Given the description of an element on the screen output the (x, y) to click on. 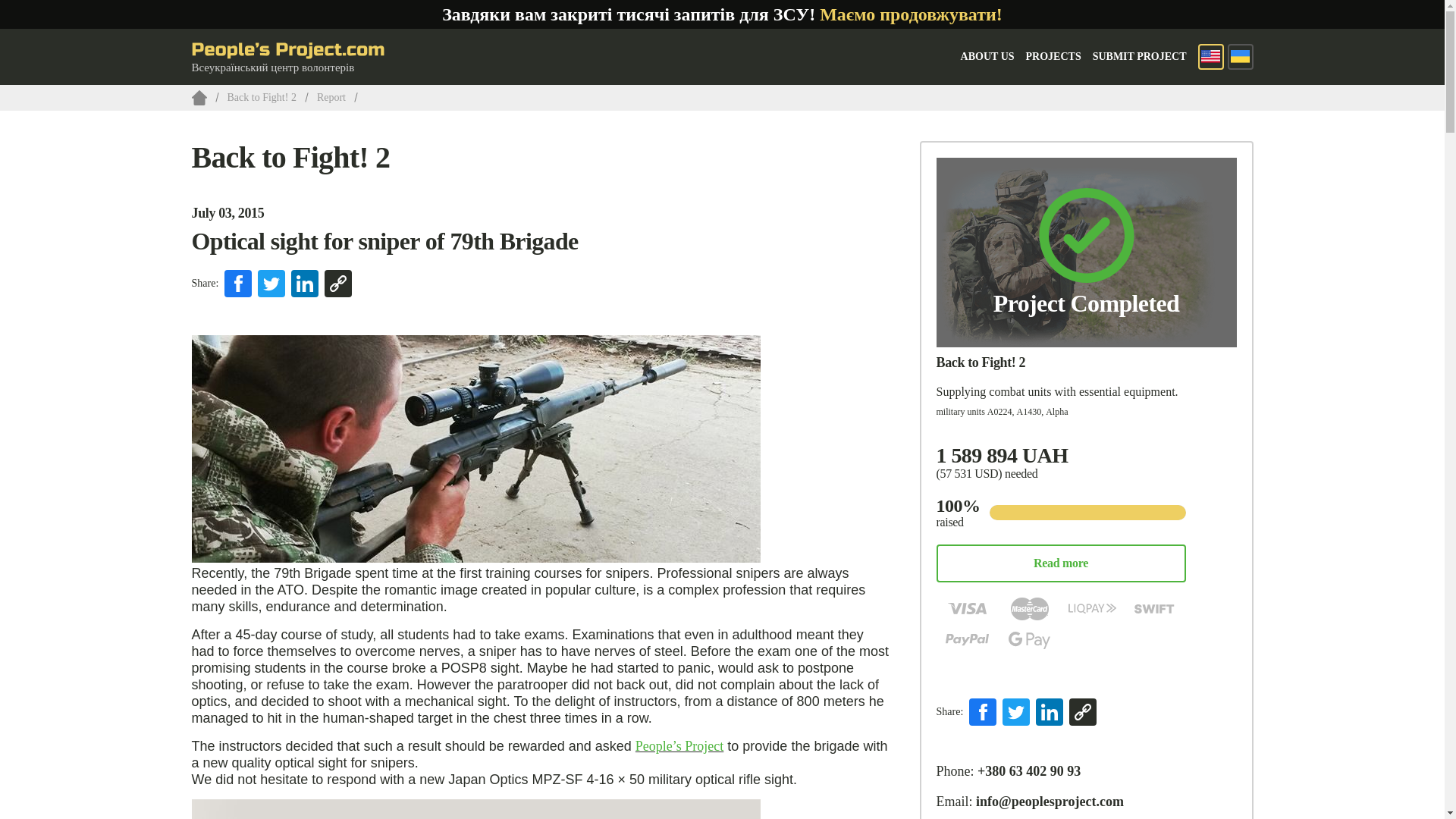
Read more (1060, 563)
Back to Fight! 2 (980, 362)
SUBMIT PROJECT (1139, 56)
Report (331, 97)
Home (198, 97)
ABOUT US (987, 56)
Back to Fight! 2 (262, 97)
PROJECTS (1053, 56)
Back to Fight! 2 (290, 157)
